Given the description of an element on the screen output the (x, y) to click on. 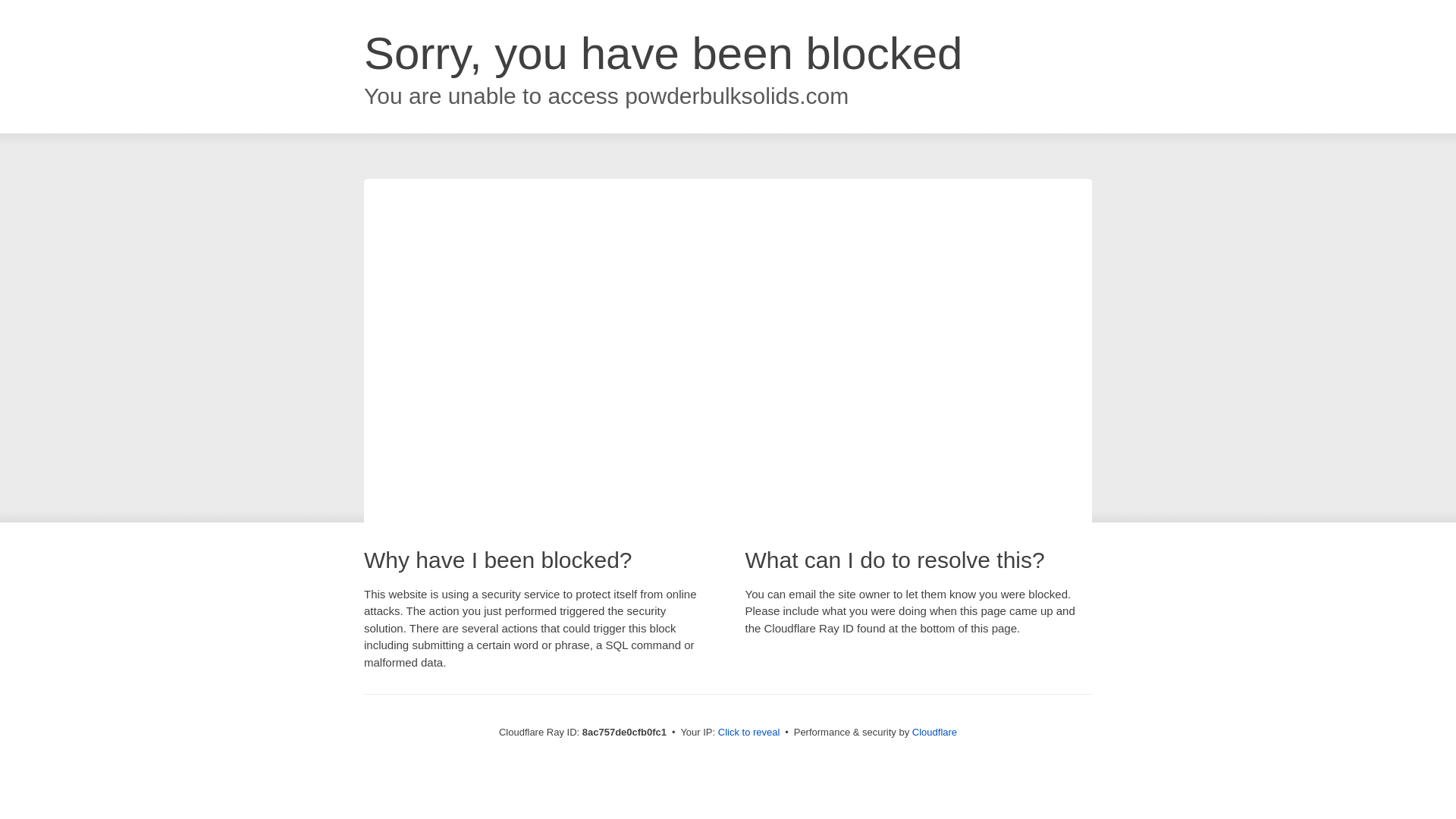
Click to reveal (748, 732)
Cloudflare (934, 731)
